Given the description of an element on the screen output the (x, y) to click on. 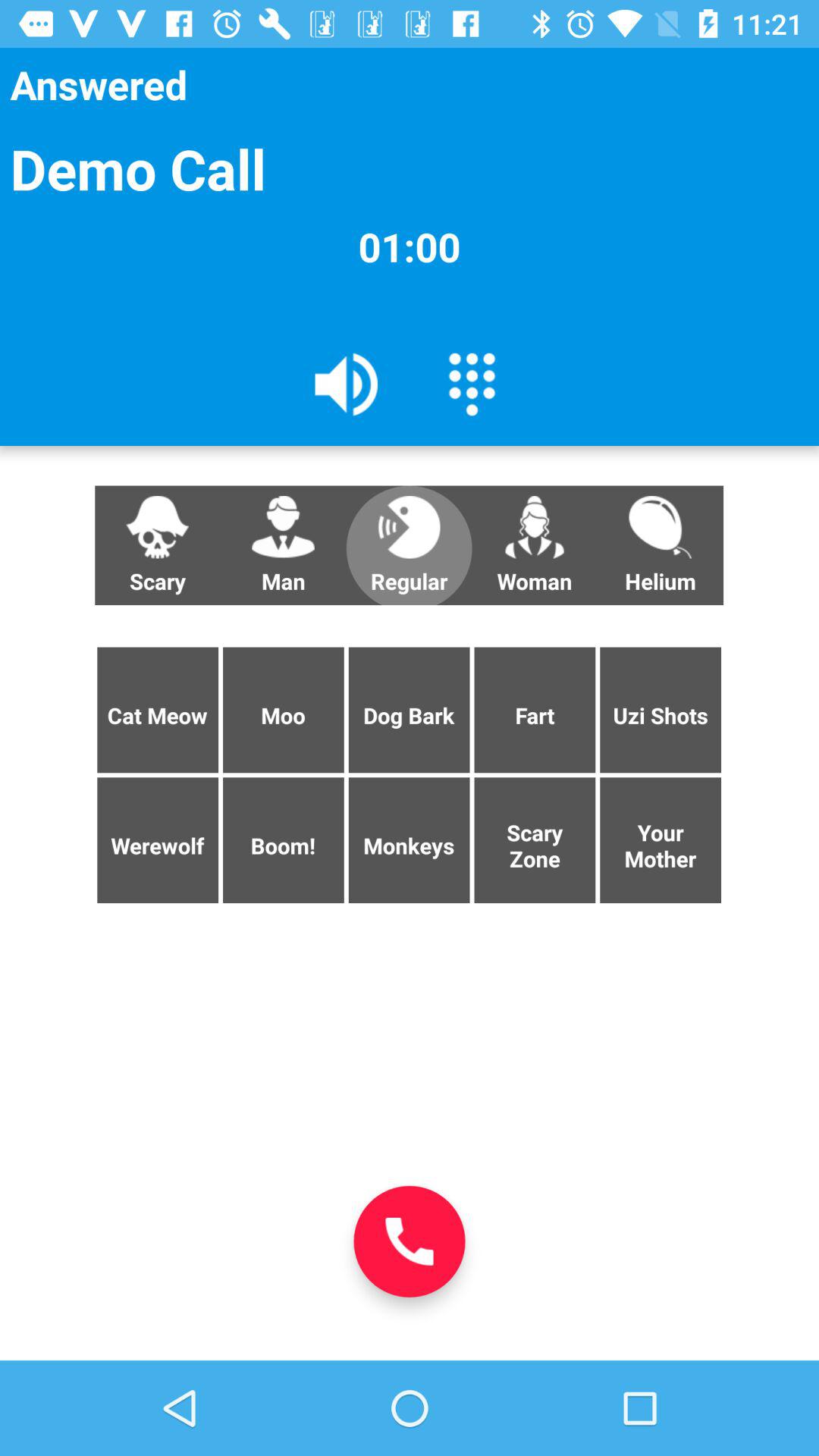
turn on button next to helium (534, 545)
